Given the description of an element on the screen output the (x, y) to click on. 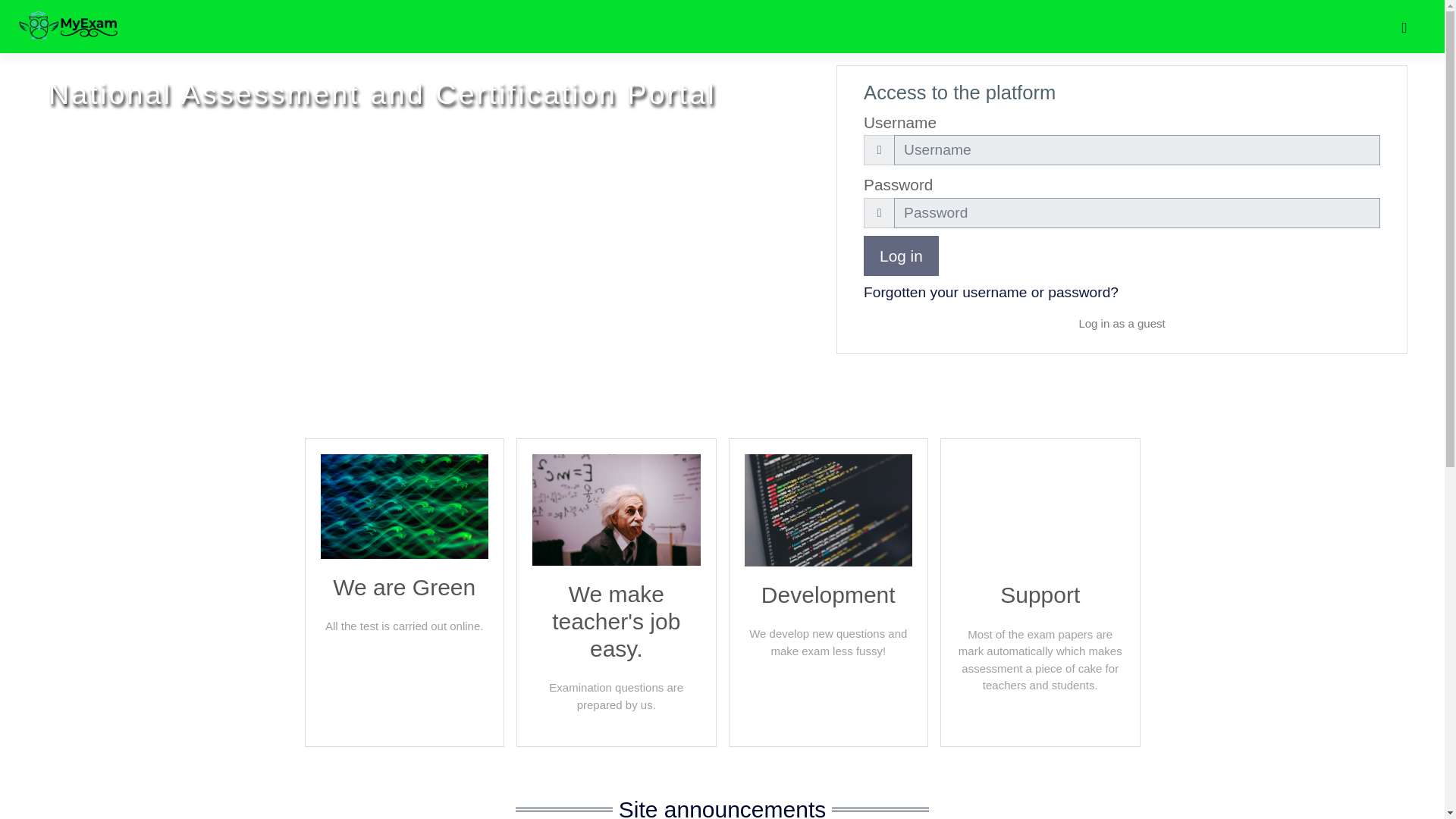
Log in as a guest (1121, 324)
Forgotten your username or password? (990, 292)
Log in (901, 255)
